Given the description of an element on the screen output the (x, y) to click on. 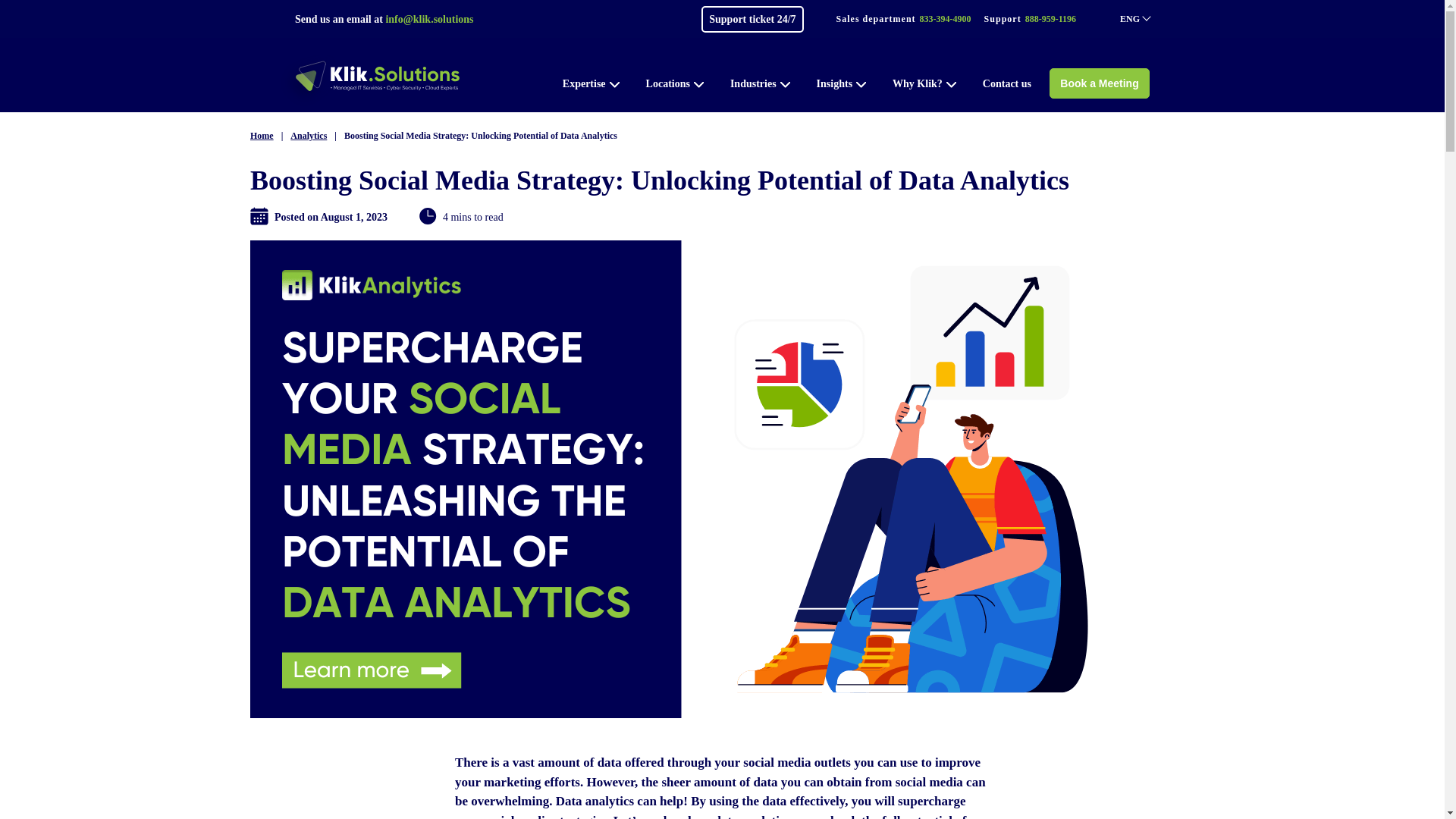
Expertise (591, 83)
Locations (674, 83)
Why Klik? (924, 83)
888-959-1196 (1050, 18)
833-394-4900 (945, 18)
Industries (760, 83)
Insights (841, 83)
